Given the description of an element on the screen output the (x, y) to click on. 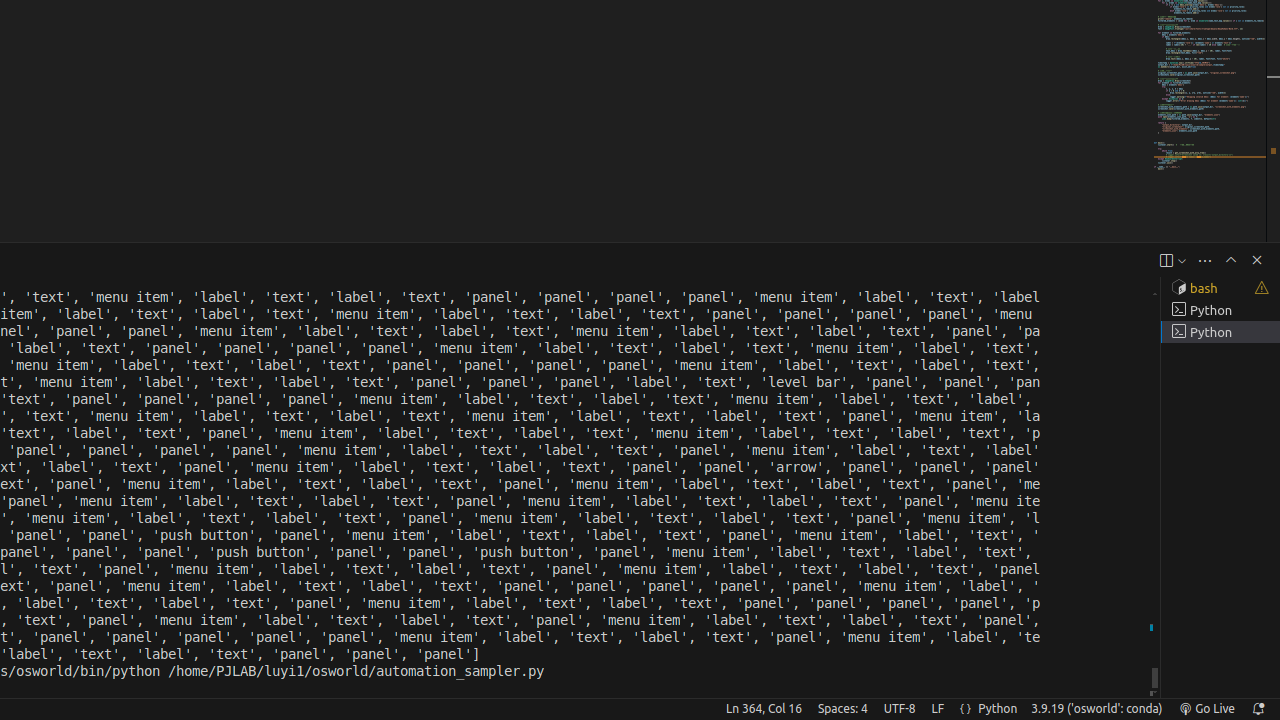
Editor Language Status: Auto Import Completions: false, next: Type Checking: off Element type: push-button (965, 709)
3.9.19 ('osworld': conda), ~/anaconda3/envs/osworld/bin/python Element type: push-button (1097, 709)
UTF-8 Element type: push-button (899, 709)
Views and More Actions... Element type: push-button (1205, 260)
Launch Profile... Element type: push-button (1182, 260)
